Given the description of an element on the screen output the (x, y) to click on. 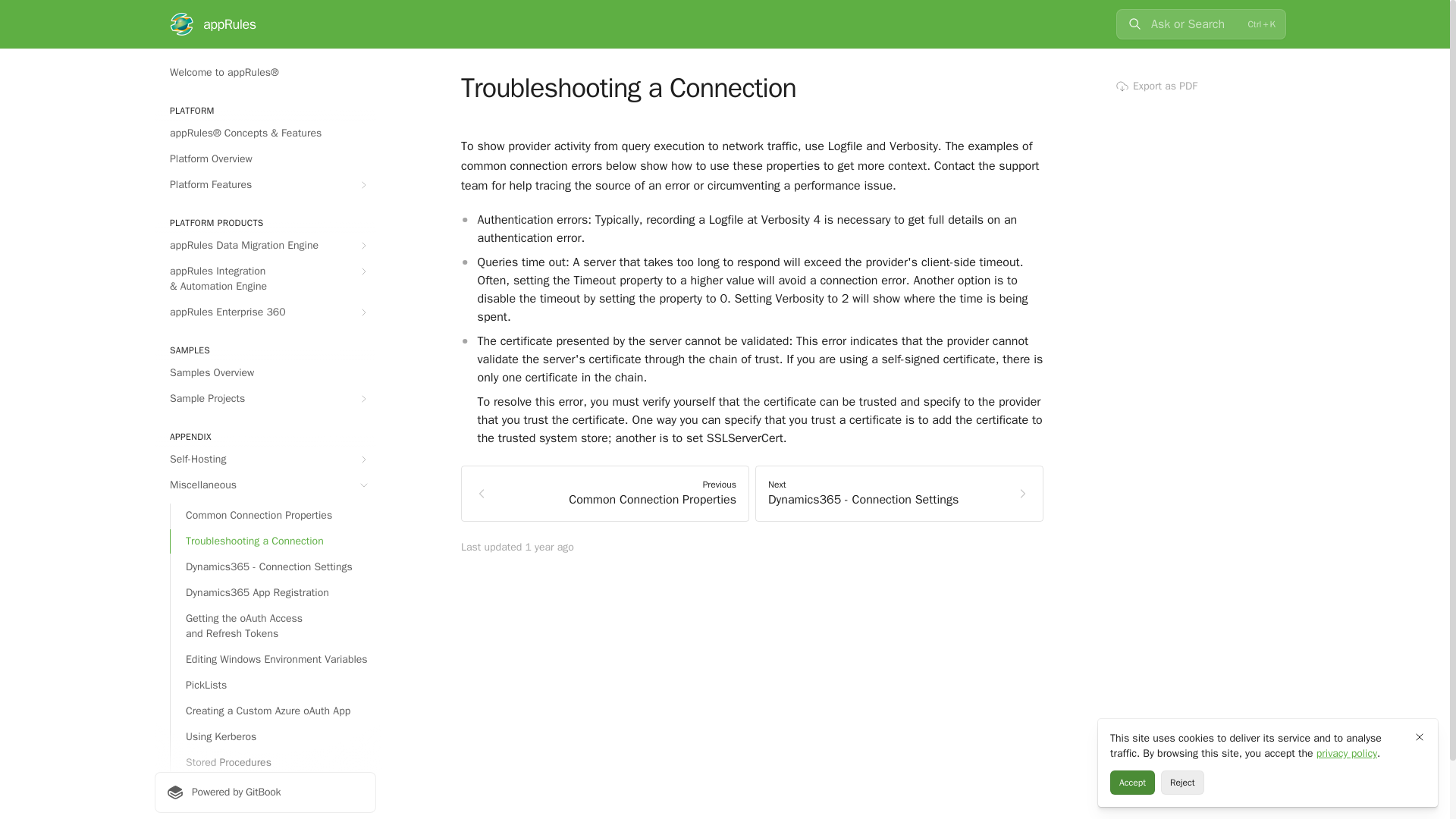
Close (1419, 737)
Platform Features (264, 184)
appRules (213, 24)
Platform Overview (264, 159)
